Given the description of an element on the screen output the (x, y) to click on. 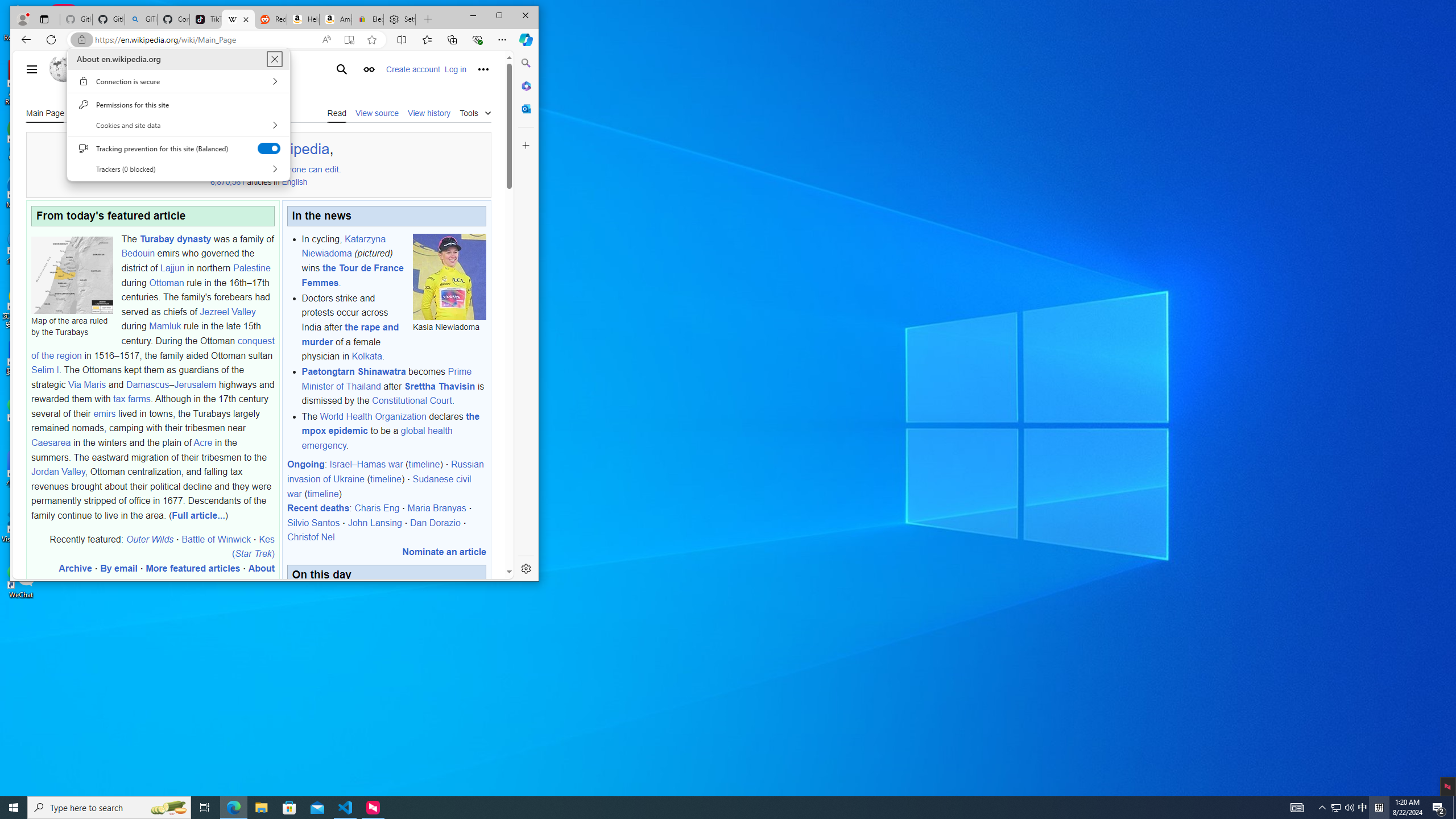
tax farms (132, 398)
View source (376, 111)
Permissions for this site (177, 104)
Jordan Valley (57, 471)
Read (336, 111)
Jerusalem (195, 384)
View source (376, 112)
Ottoman (166, 282)
Prime Minister of Thailand (386, 378)
